Given the description of an element on the screen output the (x, y) to click on. 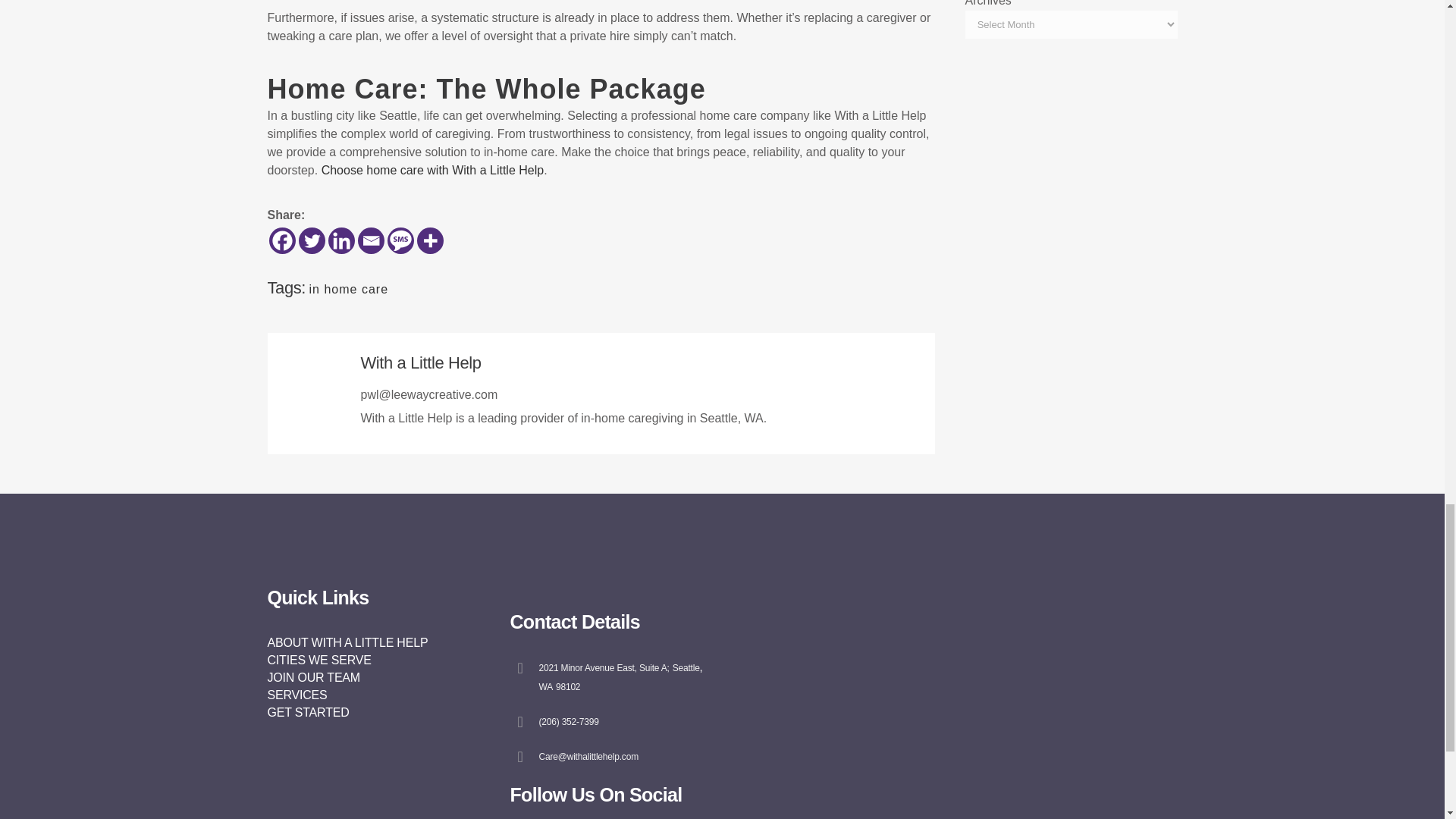
Services (296, 694)
Email (371, 240)
Facebook (281, 240)
Linkedin (340, 240)
Cities We Serve (318, 659)
Join Our Team (312, 676)
SMS (400, 240)
More (430, 240)
Twitter (311, 240)
Get Started (307, 712)
